Given the description of an element on the screen output the (x, y) to click on. 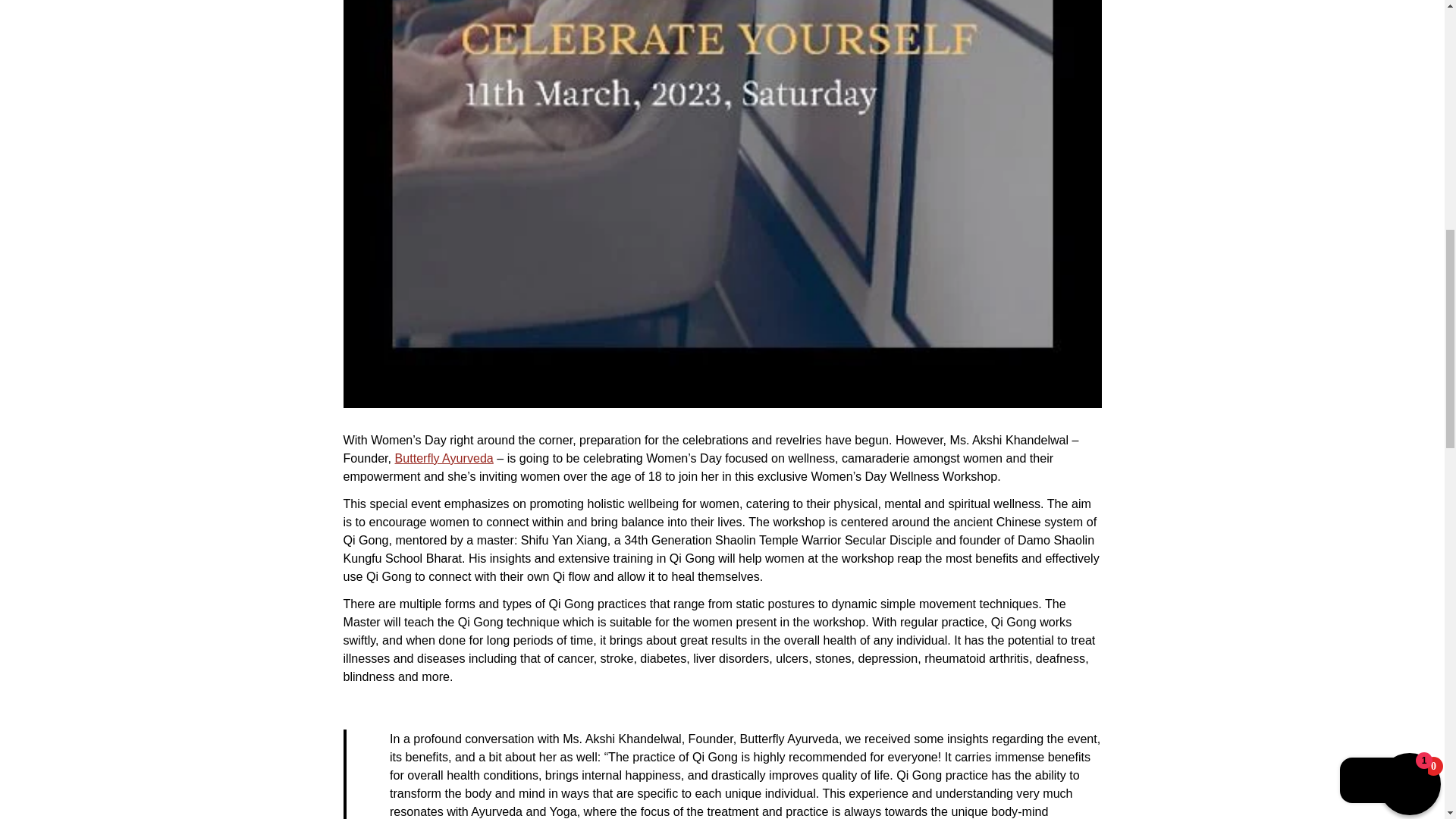
Butterfly Ayurveda (443, 458)
